Given the description of an element on the screen output the (x, y) to click on. 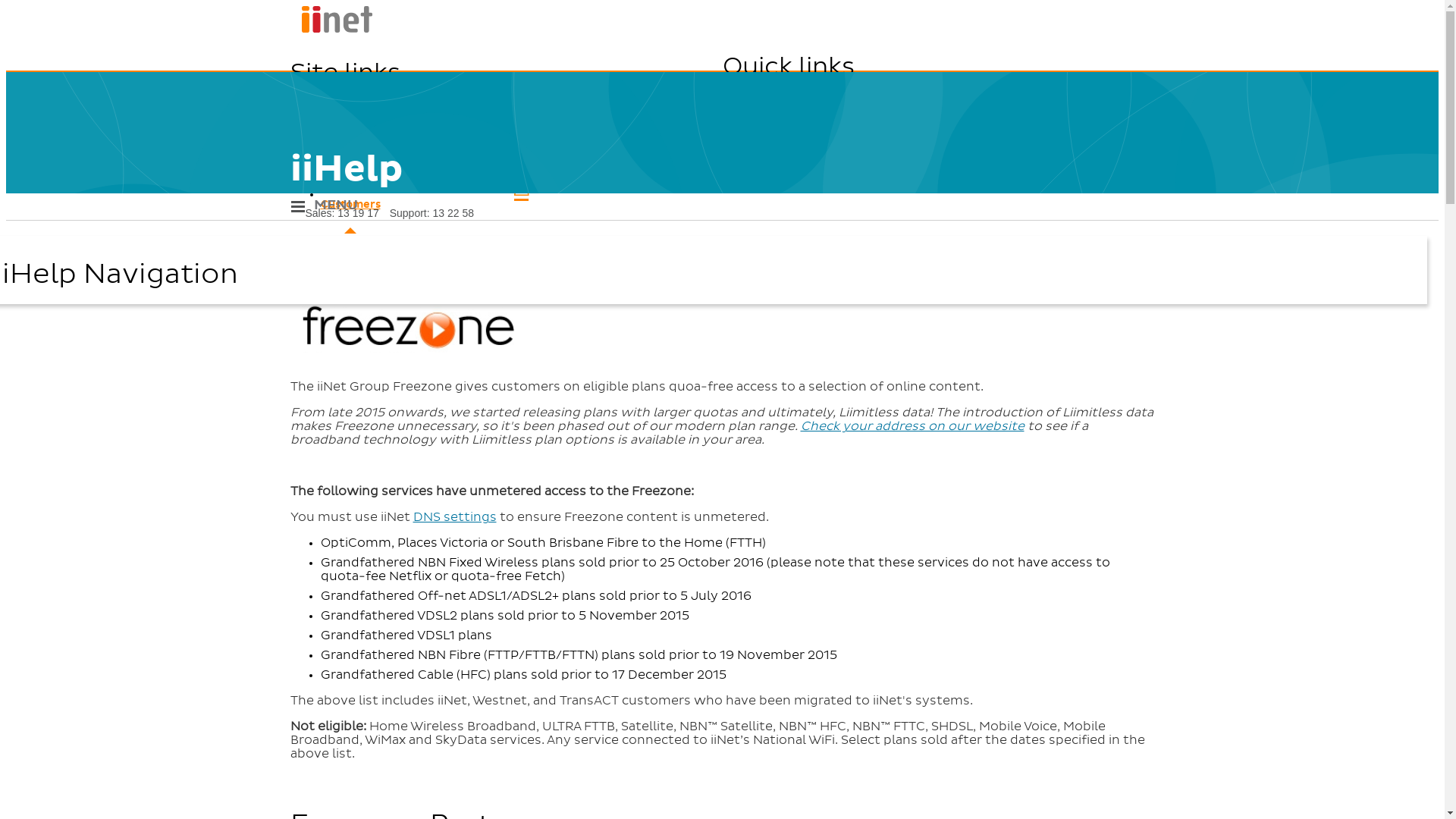
Webmail Element type: text (1108, 117)
Home Element type: hover (330, 29)
DNS settings Element type: text (453, 517)
Toolbox Element type: text (1104, 143)
Check your address on our website Element type: text (912, 426)
freezone Element type: hover (406, 326)
Residential Element type: text (520, 117)
Business Element type: text (520, 154)
Customers Element type: text (520, 192)
Skip to main content Element type: text (722, 7)
